Given the description of an element on the screen output the (x, y) to click on. 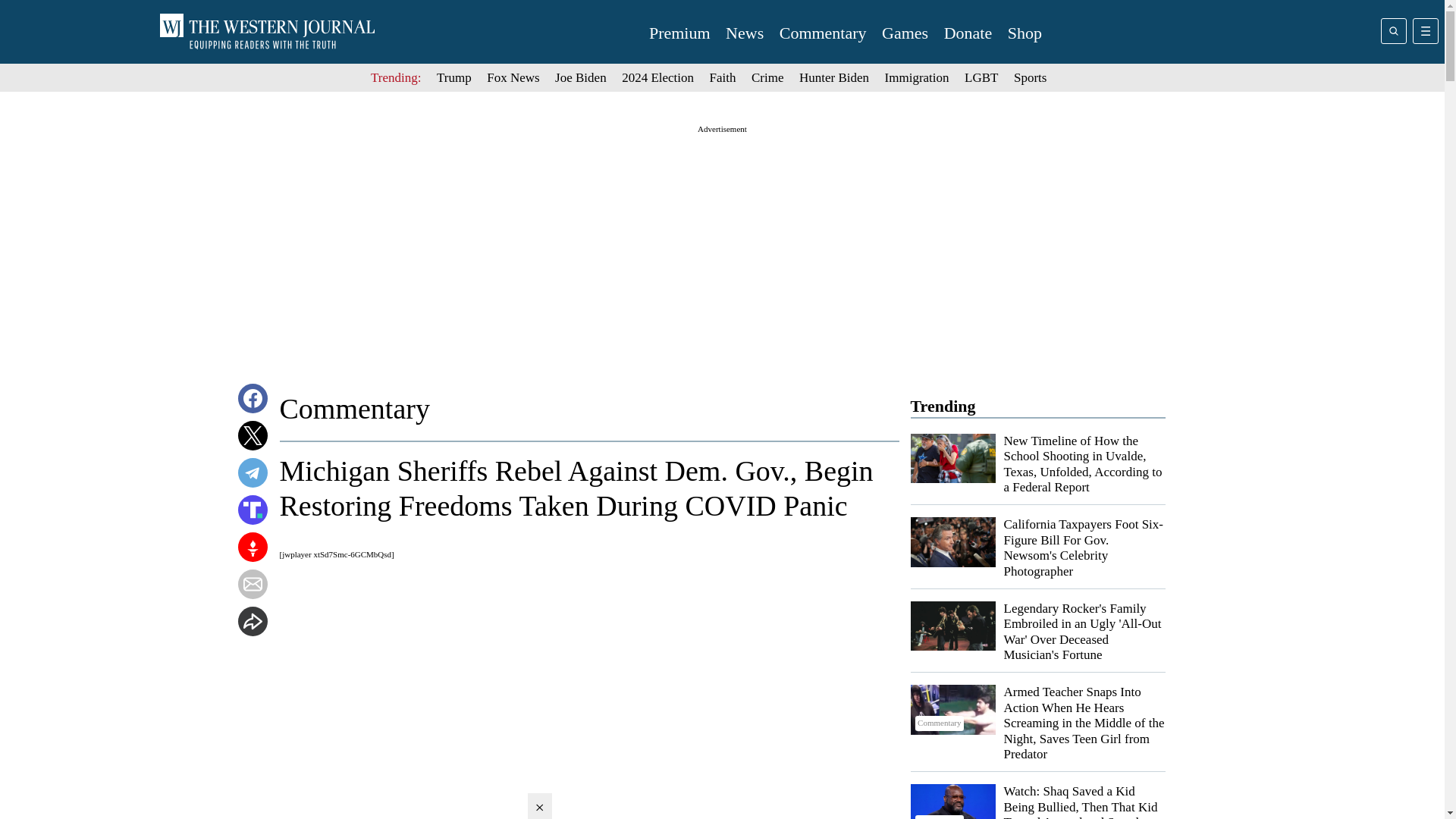
Commentary (822, 32)
Trump (453, 77)
LGBT (980, 77)
Premium (679, 32)
Games (905, 32)
2024 Election (657, 77)
Joe Biden (580, 77)
Donate (967, 32)
